Given the description of an element on the screen output the (x, y) to click on. 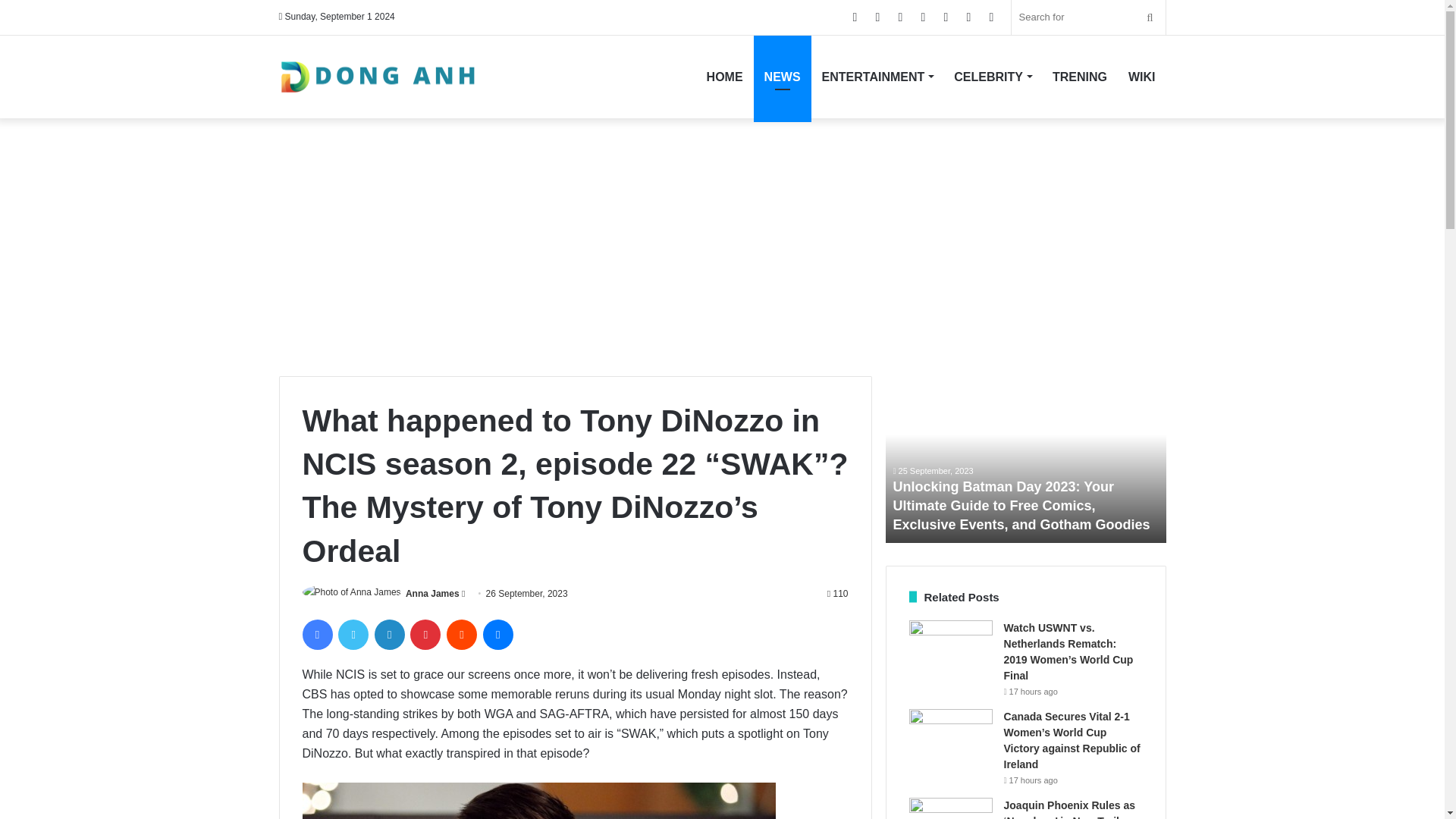
TRENING (1080, 76)
Anna James (433, 593)
LinkedIn (389, 634)
Reddit (461, 634)
LinkedIn (389, 634)
Nhadatdonganh (377, 76)
Pinterest (425, 634)
Twitter (352, 634)
Reddit (461, 634)
Twitter (352, 634)
